Given the description of an element on the screen output the (x, y) to click on. 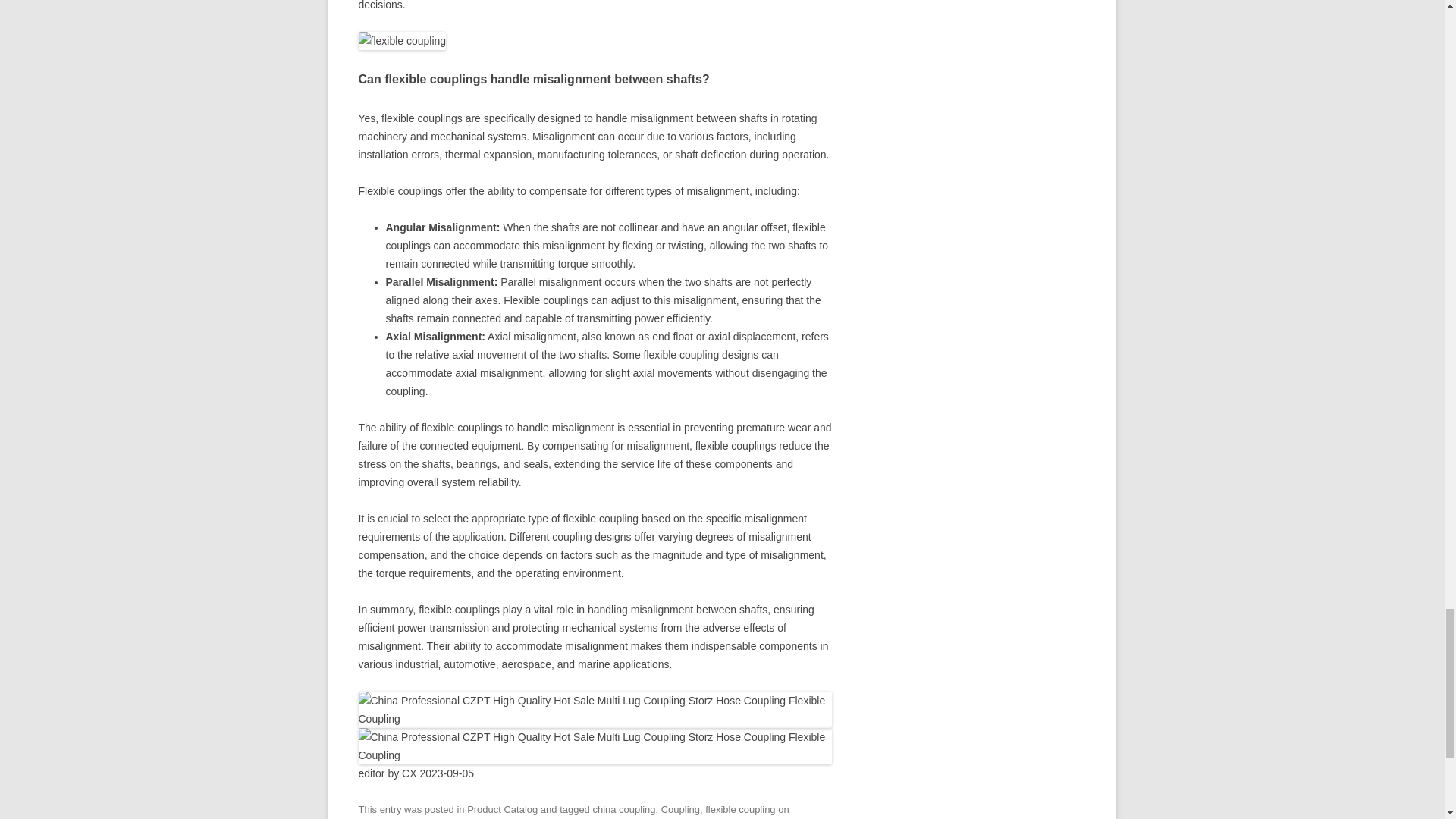
Coupling (680, 808)
china coupling (623, 808)
Product Catalog (502, 808)
flexible coupling (739, 808)
